Given the description of an element on the screen output the (x, y) to click on. 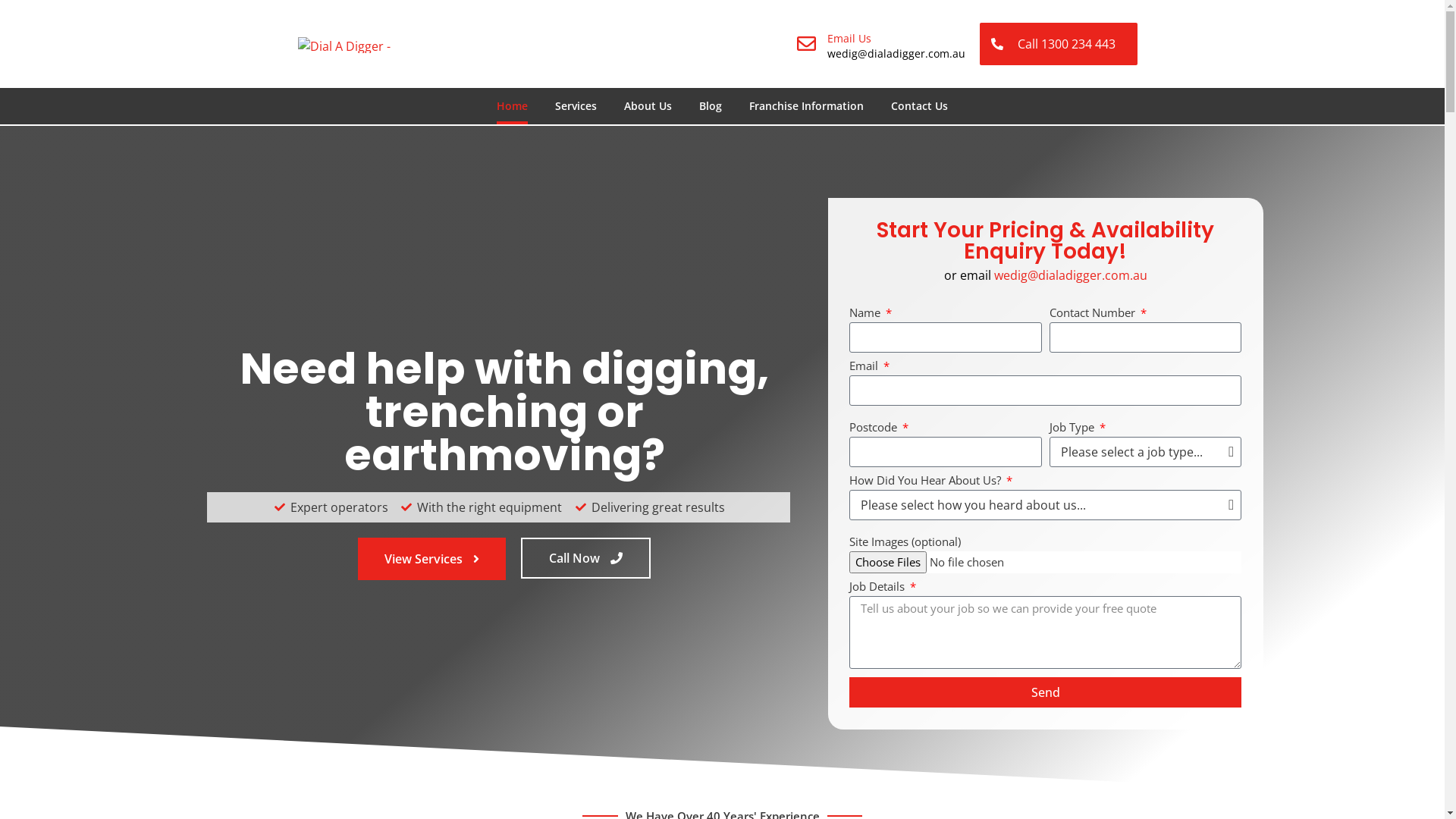
Dial A Digger - Email Us Element type: hover (806, 43)
Call 1300 234 443 Element type: text (1058, 43)
Home Element type: text (511, 105)
wedig@dialadigger.com.au Element type: text (1070, 274)
Send Element type: text (1045, 692)
Franchise Information Element type: text (806, 105)
Services Element type: text (575, 105)
About Us Element type: text (647, 105)
Contact Us Element type: text (919, 105)
Blog Element type: text (710, 105)
View Services Element type: text (431, 558)
Dial A Digger - Home Element type: hover (358, 43)
Email Us Element type: text (849, 38)
Call Now Element type: text (585, 557)
